Given the description of an element on the screen output the (x, y) to click on. 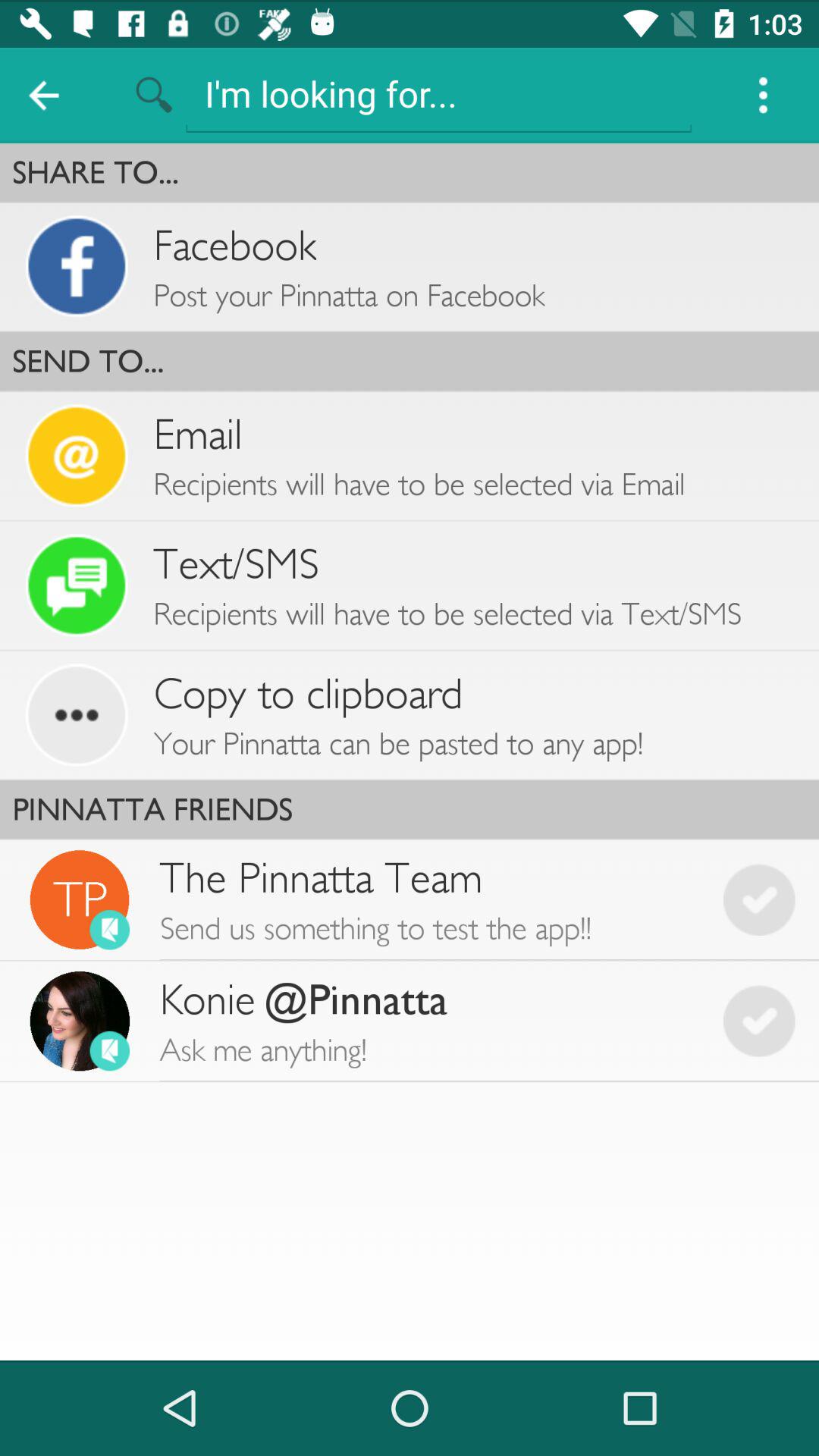
open item above the your pinnatta can item (307, 693)
